Given the description of an element on the screen output the (x, y) to click on. 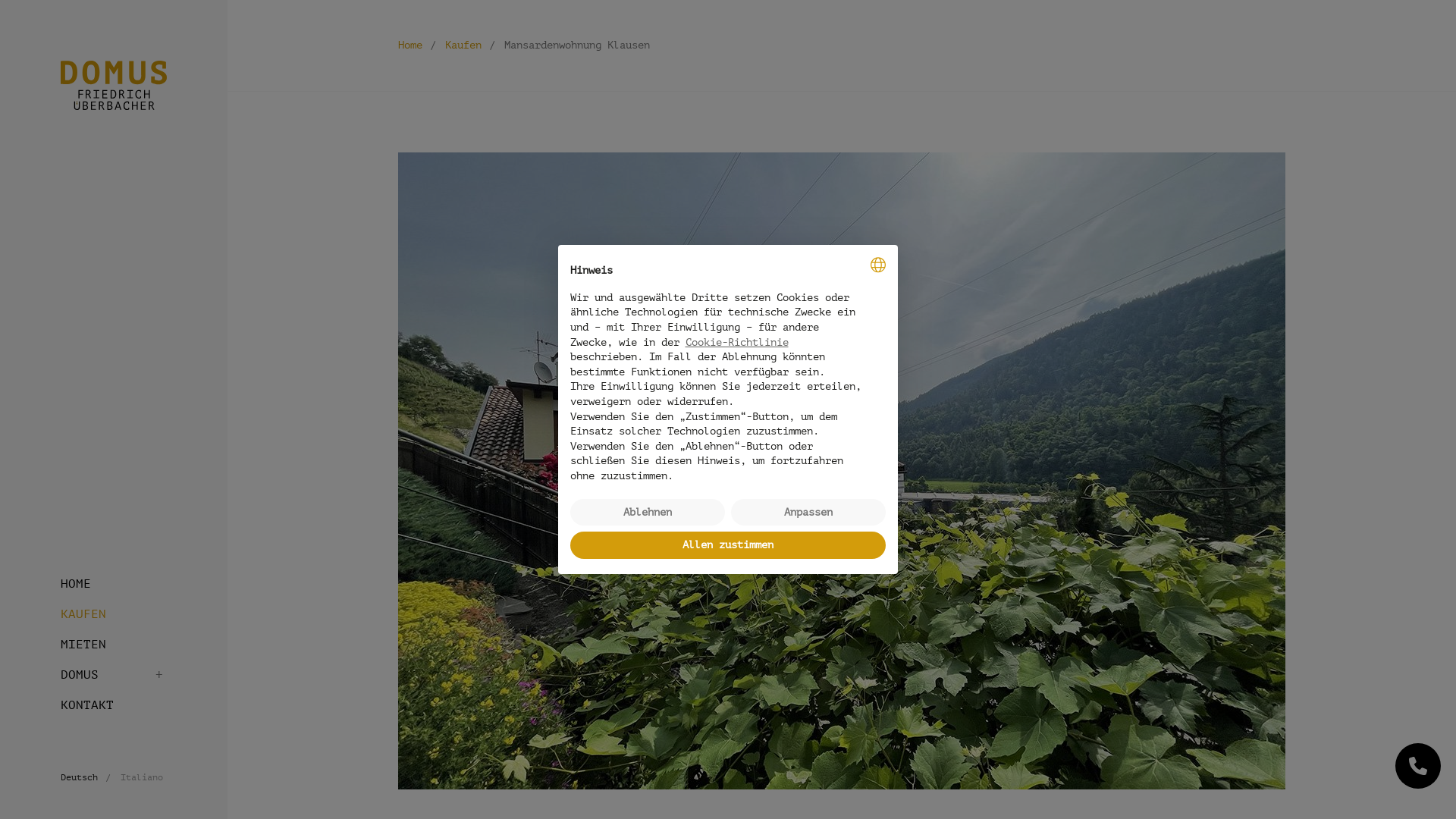
Italiano Element type: text (141, 776)
Cookie-Richtlinie Element type: text (736, 342)
Home Element type: text (410, 44)
HOME Element type: text (111, 583)
MIETEN Element type: text (111, 644)
Ablehnen Element type: text (647, 512)
KONTAKT Element type: text (111, 705)
Deutsch Element type: text (78, 776)
KAUFEN Element type: text (111, 614)
Kaufen Element type: text (463, 44)
Anpassen Element type: text (808, 512)
DOMUS Element type: text (111, 674)
Allen zustimmen Element type: text (727, 544)
